Given the description of an element on the screen output the (x, y) to click on. 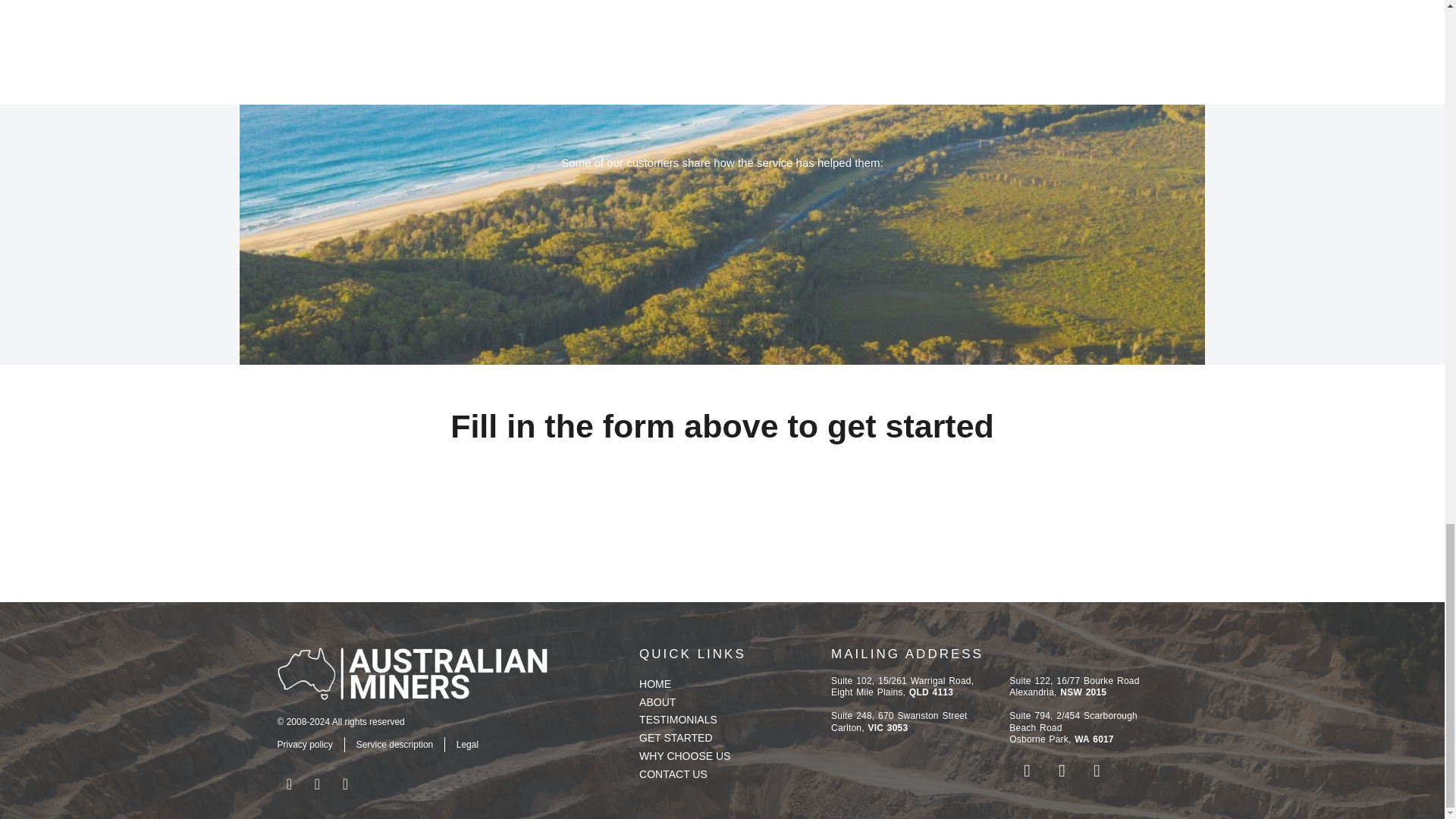
Fill in the form above to get started (721, 425)
Service description (394, 744)
Privacy policy (305, 744)
